Given the description of an element on the screen output the (x, y) to click on. 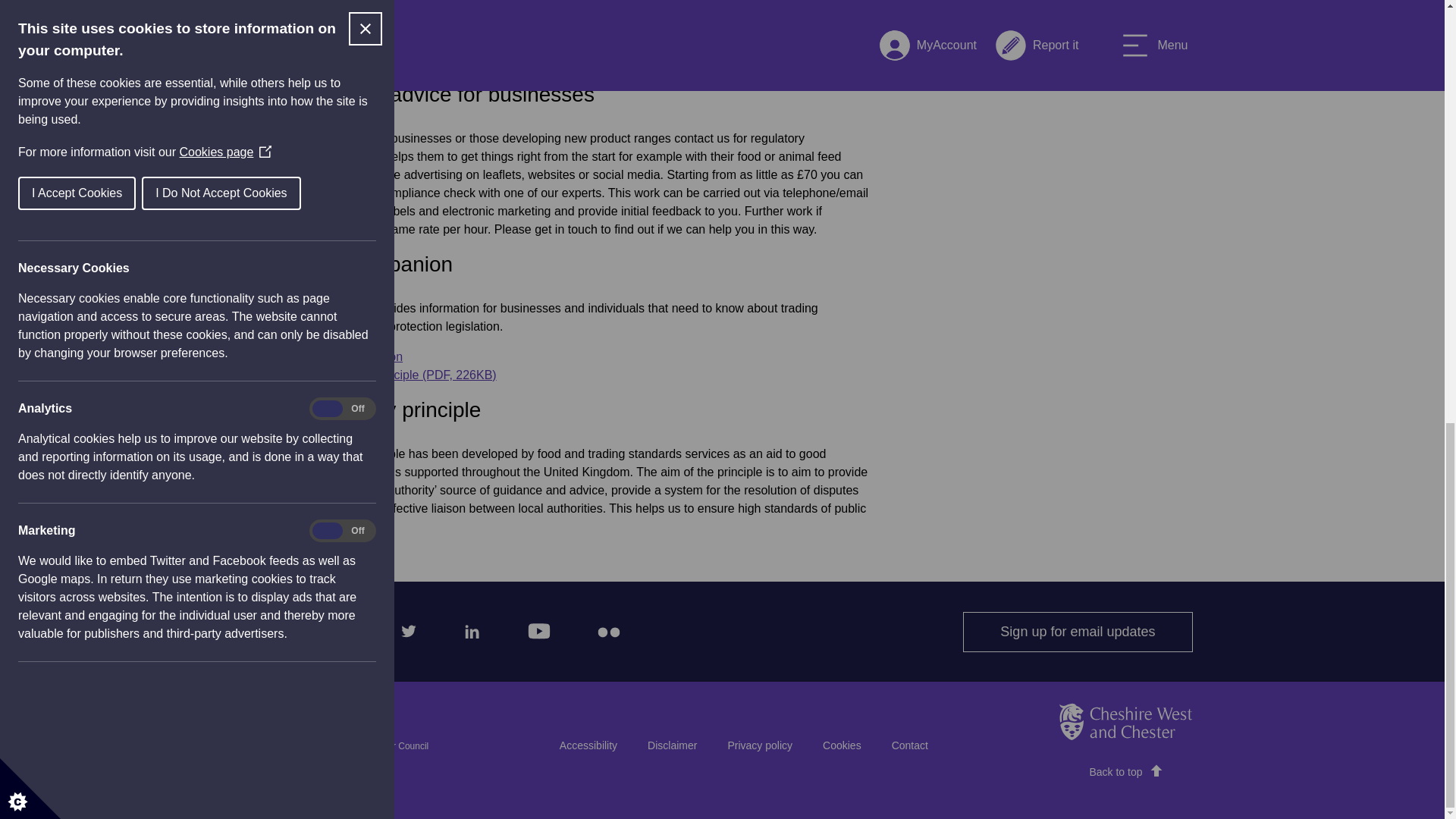
Twitter (404, 627)
Gov.UK. (591, 59)
External link (345, 356)
Back to top (1125, 771)
Instagram (340, 627)
Business Companion (345, 356)
Facebook (277, 627)
External link (591, 59)
LinkedIn (468, 627)
home-authority-principle (392, 374)
